Given the description of an element on the screen output the (x, y) to click on. 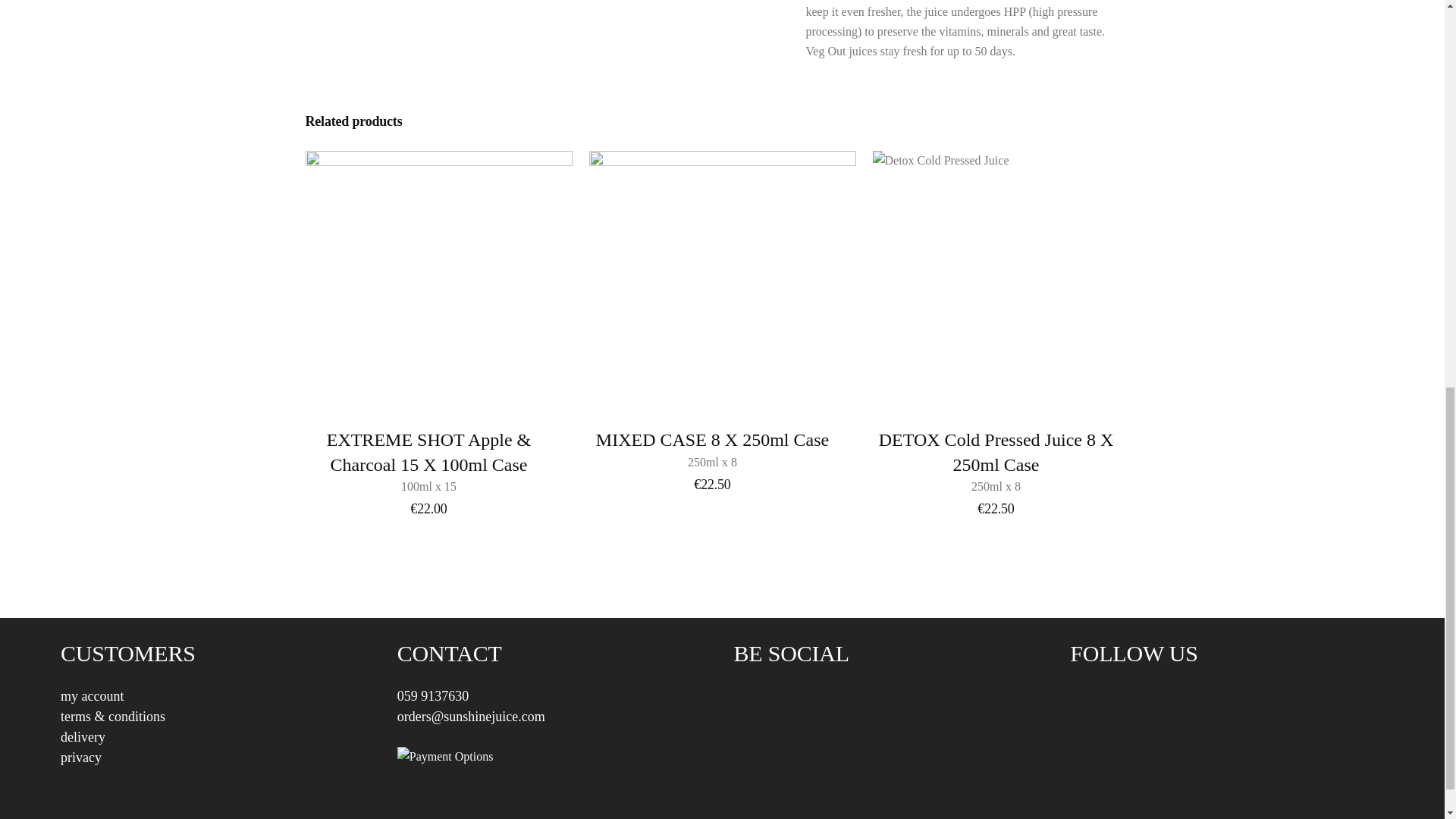
delivery (82, 736)
059 9137630 (711, 449)
privacy (995, 461)
my account (432, 695)
